Given the description of an element on the screen output the (x, y) to click on. 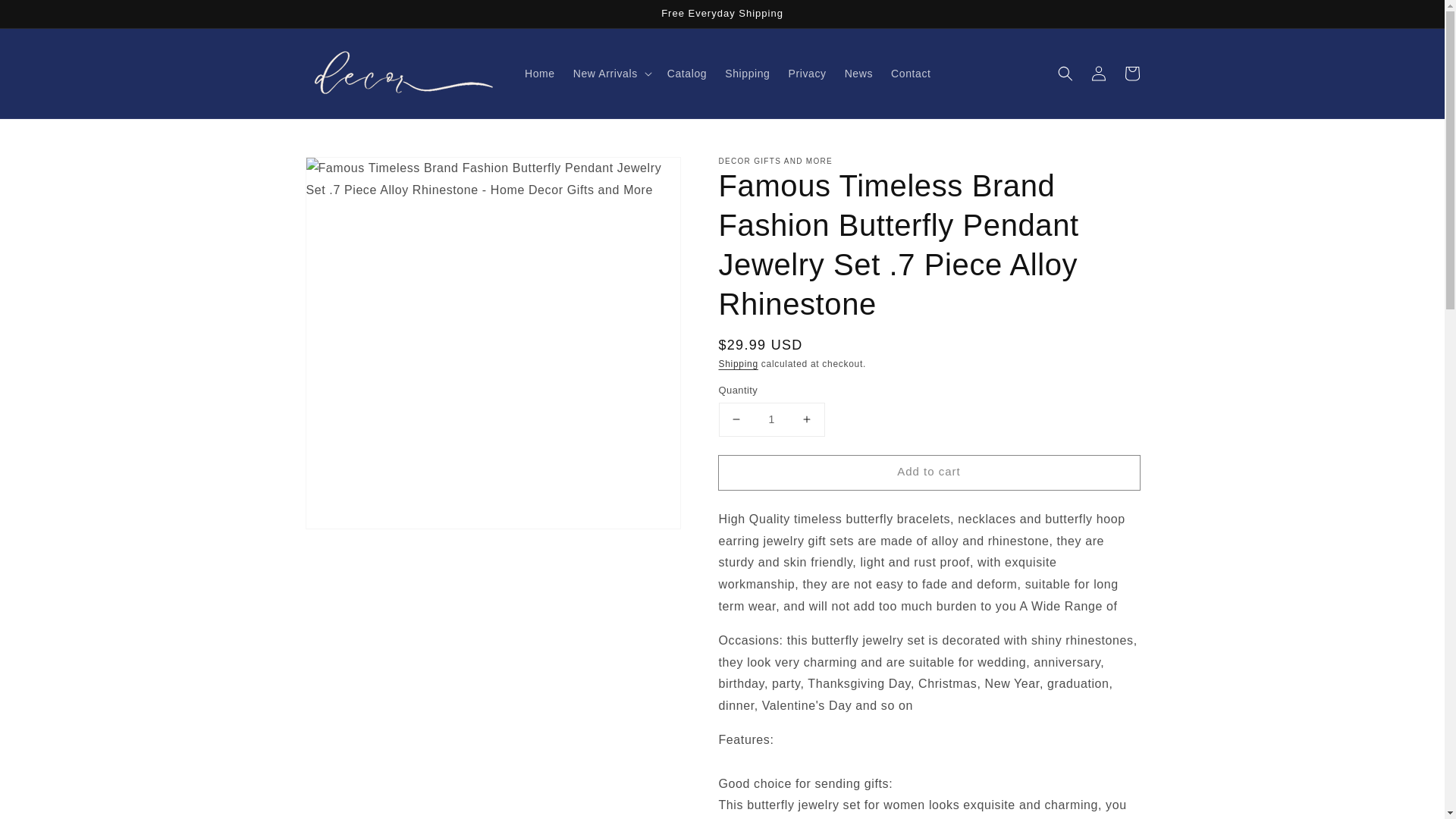
1 (772, 419)
Skip to content (45, 16)
